Given the description of an element on the screen output the (x, y) to click on. 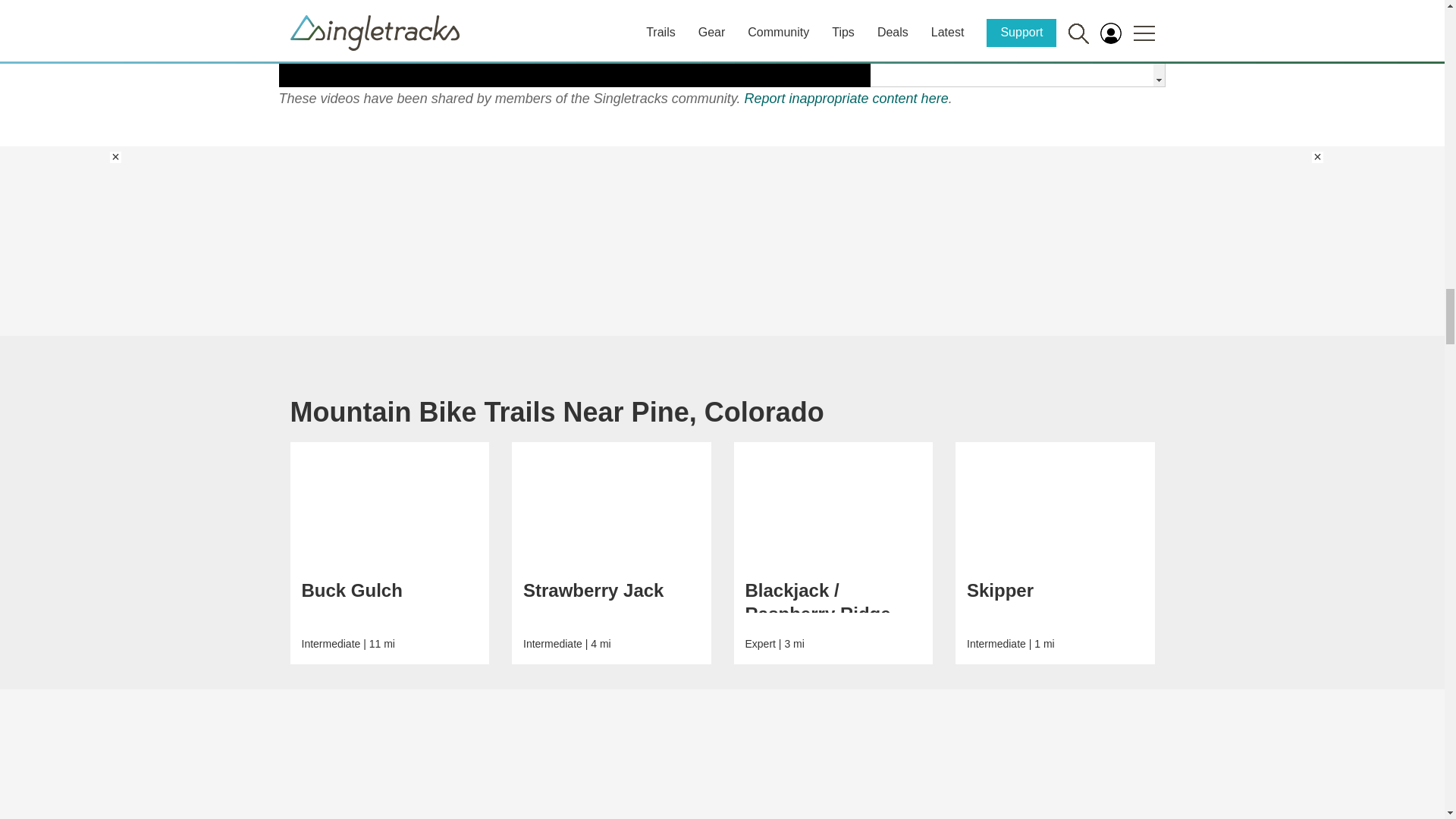
YouTube video player (574, 43)
